Given the description of an element on the screen output the (x, y) to click on. 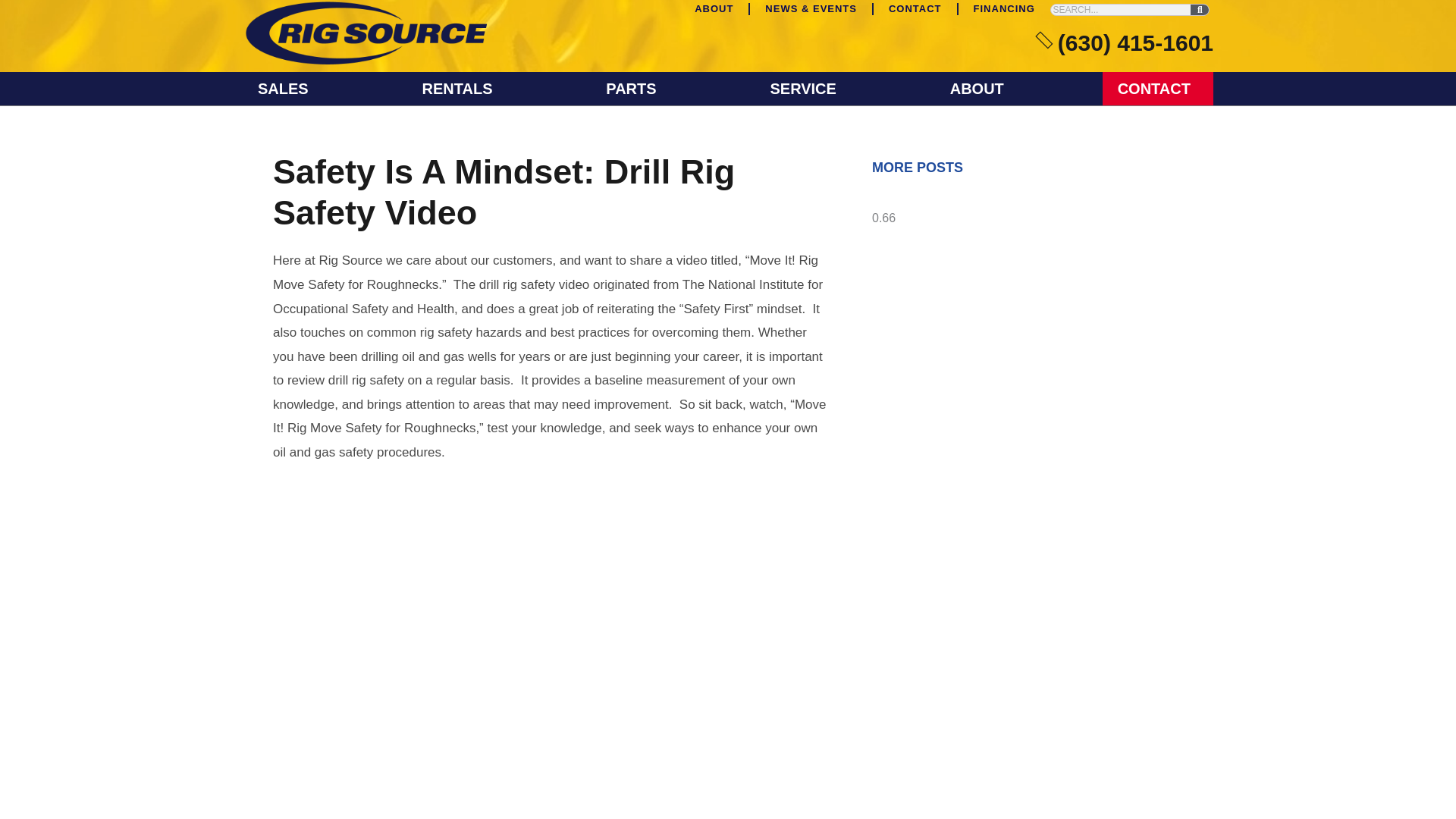
CONTACT (914, 13)
Search (1199, 9)
ABOUT (713, 13)
FINANCING (1003, 13)
